Given the description of an element on the screen output the (x, y) to click on. 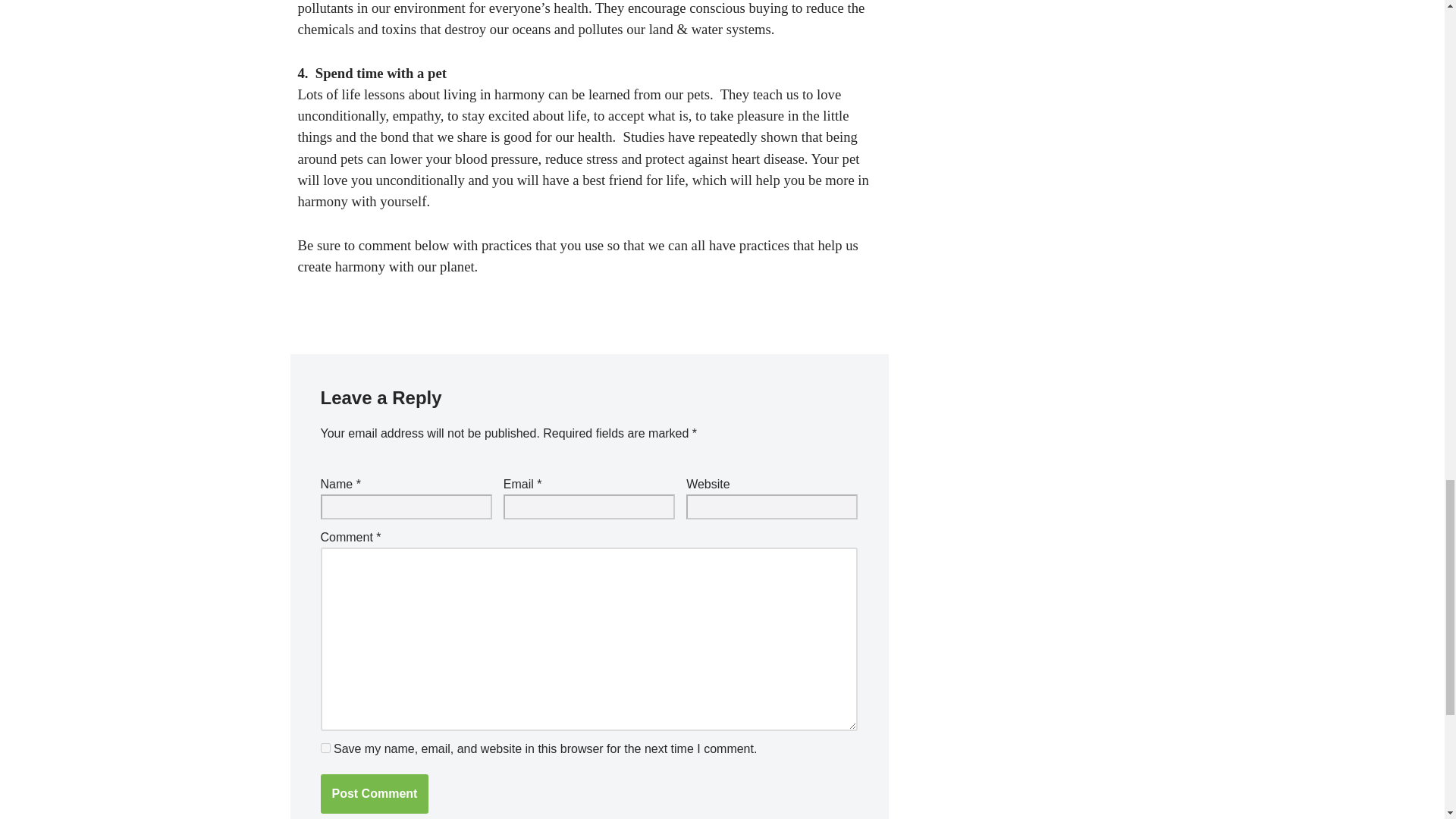
Post Comment (374, 793)
yes (325, 747)
Post Comment (374, 793)
